Given the description of an element on the screen output the (x, y) to click on. 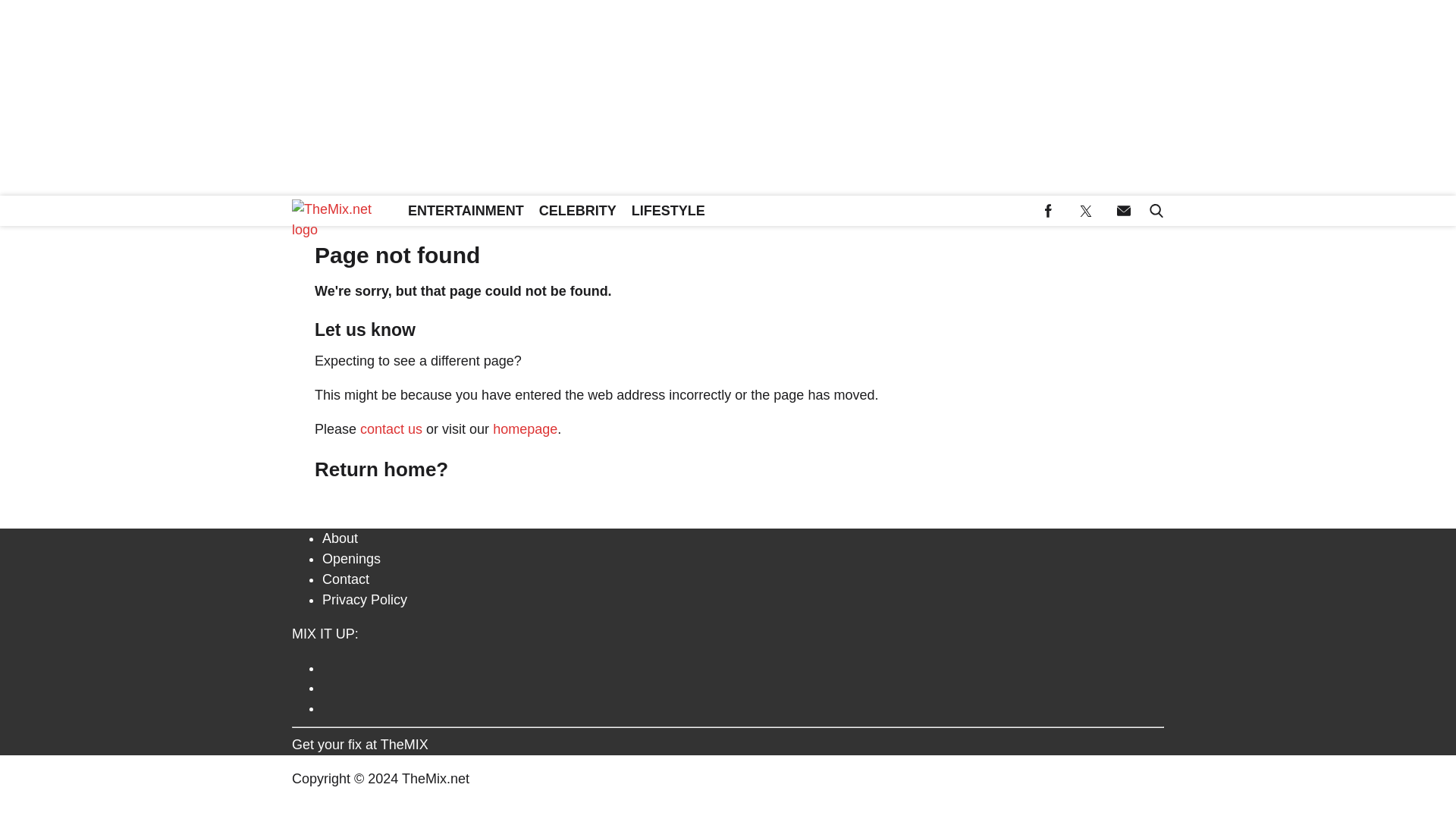
Send us an email (742, 706)
homepage (525, 428)
Contact (345, 579)
Privacy Policy (364, 598)
Send us an email (1123, 210)
Return home? (381, 468)
Follow us on Twitter (742, 686)
Follow us on Twitter (1086, 210)
About (339, 538)
Follow us on Facebook (742, 666)
LIFESTYLE (668, 210)
Follow us on Facebook (1048, 210)
Openings (350, 557)
ENTERTAINMENT (465, 210)
contact us (390, 428)
